Given the description of an element on the screen output the (x, y) to click on. 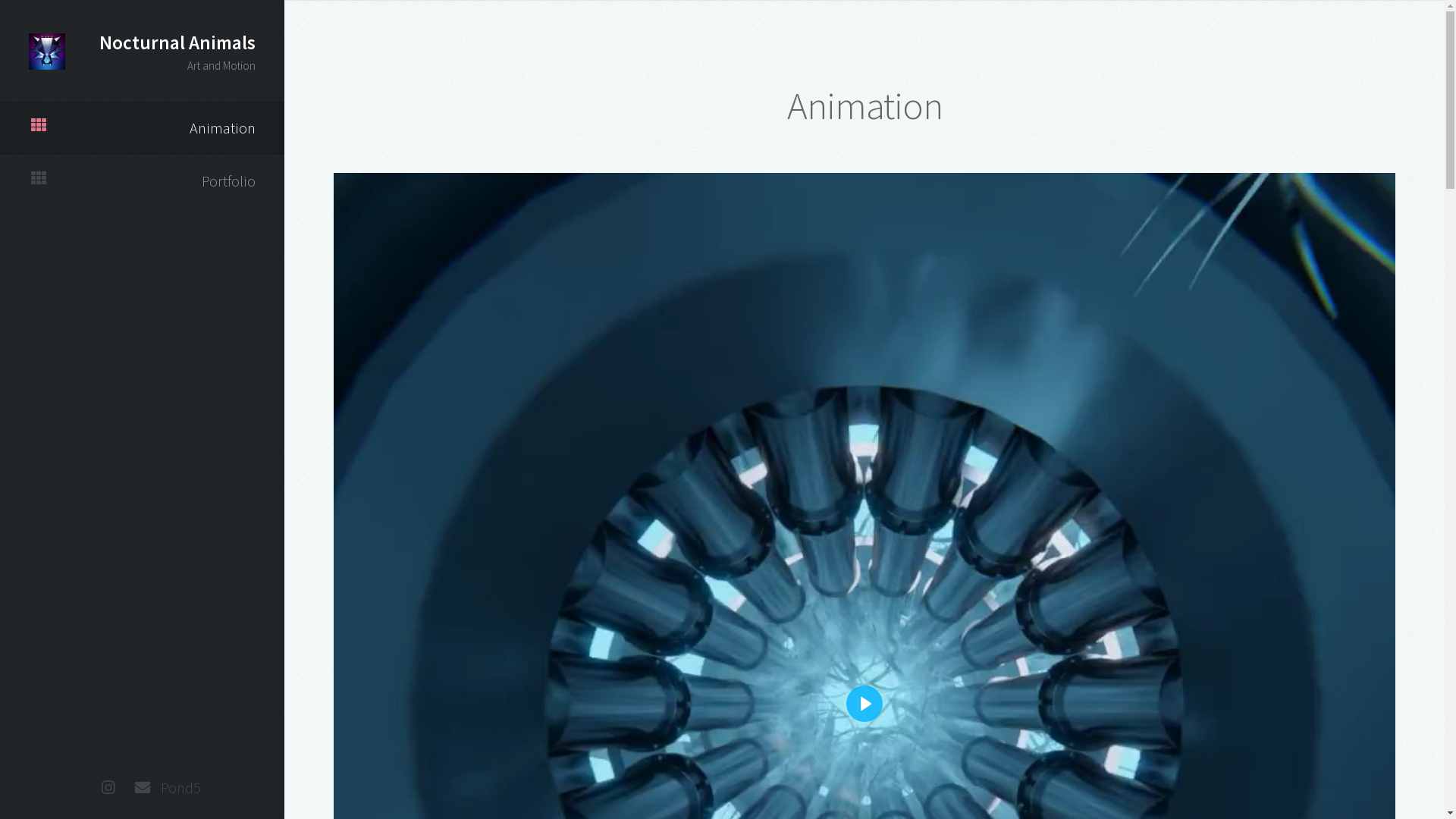
Play Element type: text (864, 703)
Portfolio Element type: text (142, 180)
Animation Element type: text (142, 127)
Pond5 Element type: text (175, 787)
